Given the description of an element on the screen output the (x, y) to click on. 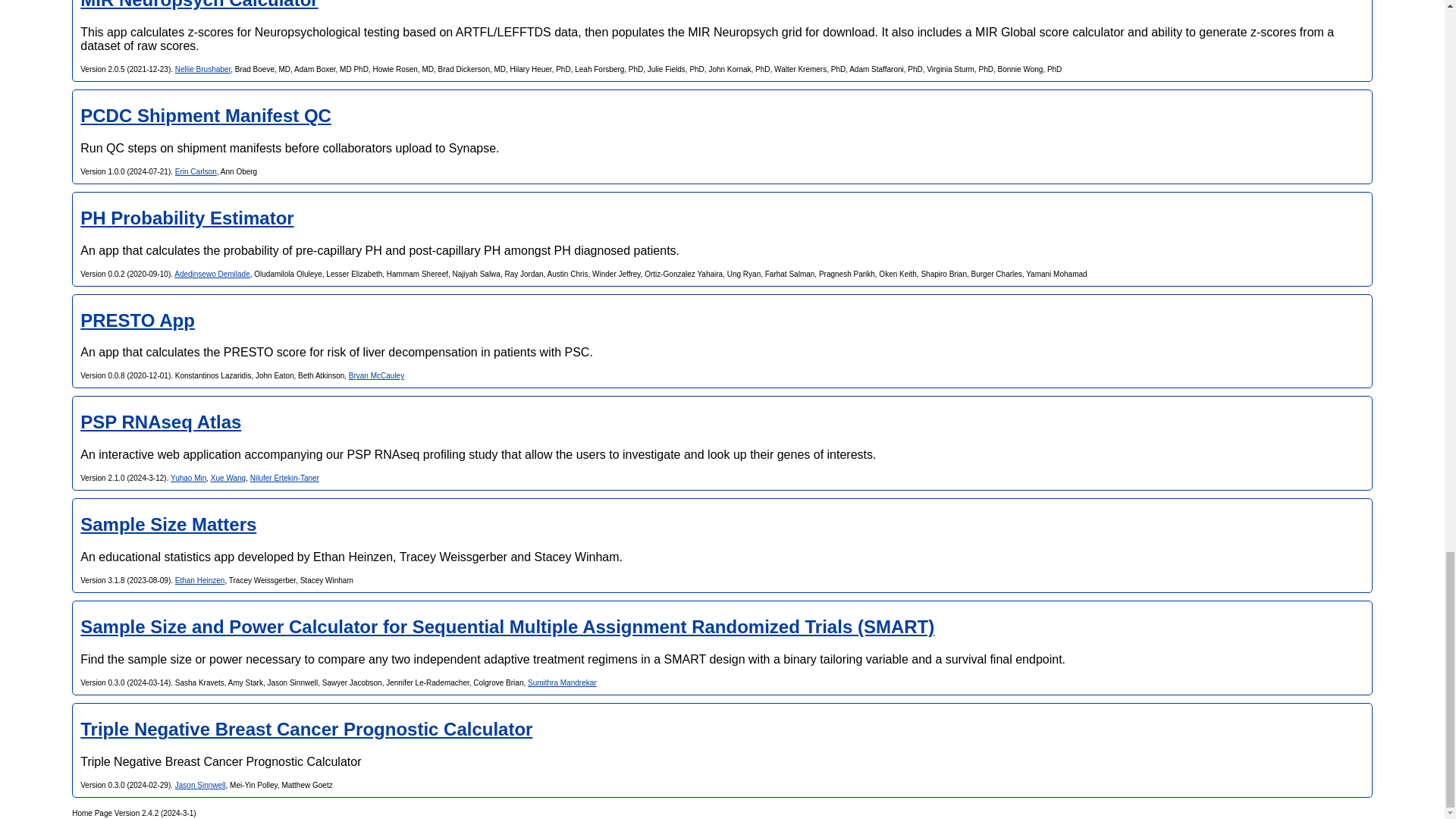
MIR Neuropsych Calculator (198, 4)
PH Probability Estimator (187, 218)
Nellie Brushaber (202, 69)
Erin Carlson (195, 171)
PCDC Shipment Manifest QC (205, 115)
Adedinsewo Demilade (212, 274)
PRESTO App (137, 320)
